Given the description of an element on the screen output the (x, y) to click on. 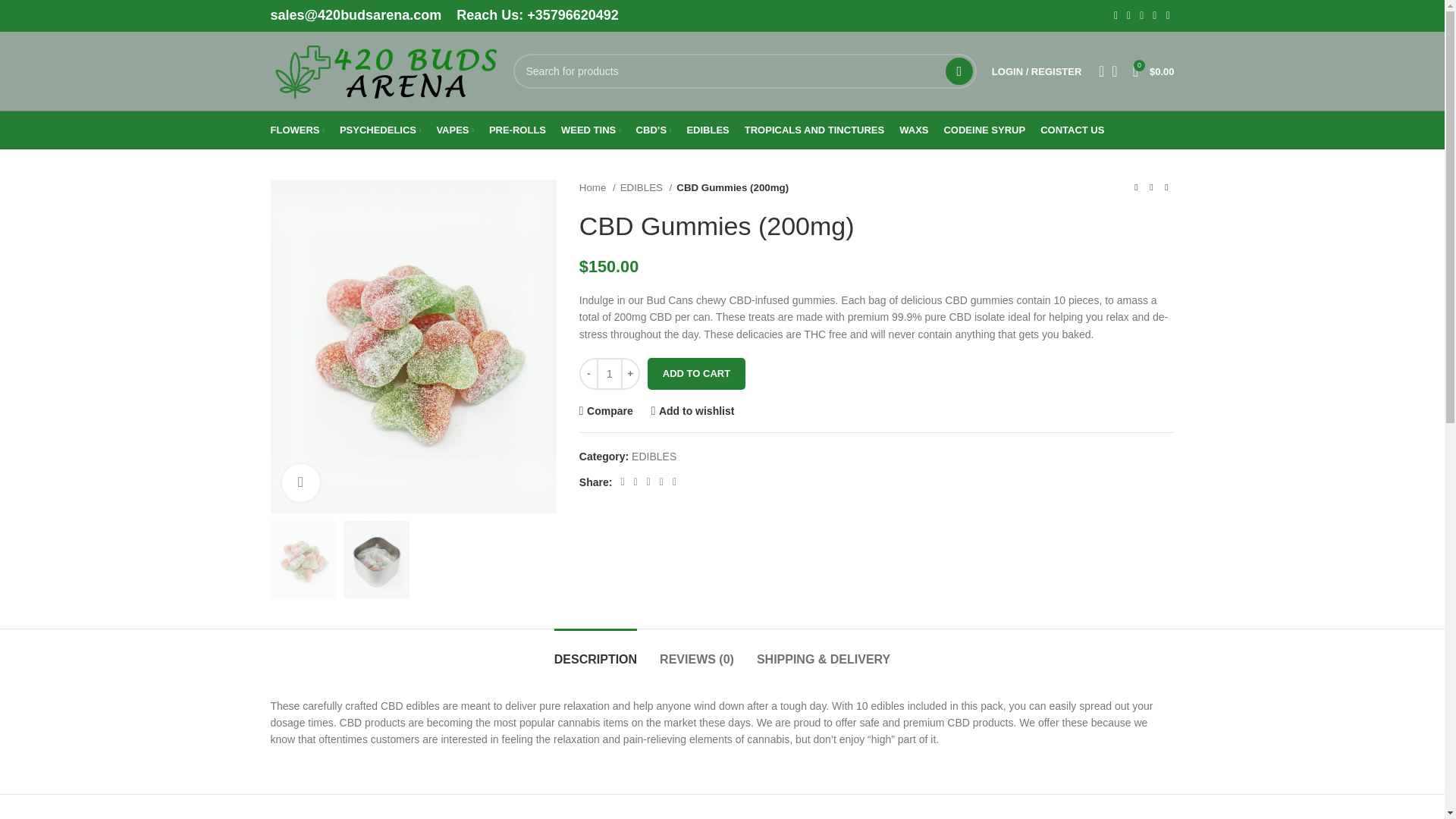
PRE-ROLLS (517, 130)
EDIBLES (707, 130)
TROPICALS AND TINCTURES (813, 130)
My account (1036, 71)
WEED TINS (590, 130)
Shopping cart (1153, 71)
PSYCHEDELICS (380, 130)
SEARCH (958, 71)
VAPES (454, 130)
FLOWERS (296, 130)
